Given the description of an element on the screen output the (x, y) to click on. 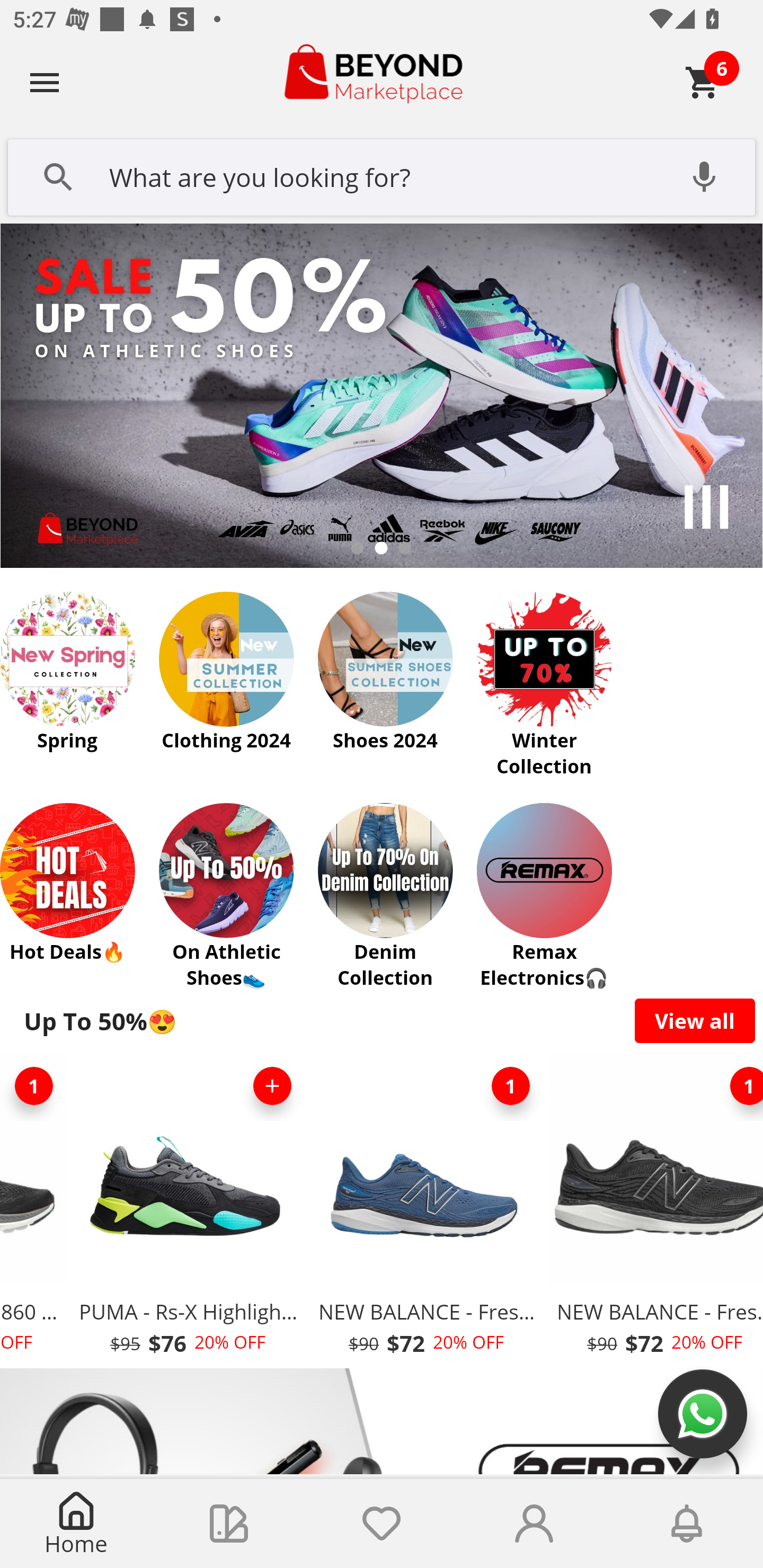
Navigate up (44, 82)
What are you looking for? (381, 175)
View all (694, 1020)
1 (510, 1085)
1 (738, 1085)
Collections (228, 1523)
Wishlist (381, 1523)
Account (533, 1523)
Notifications (686, 1523)
